Given the description of an element on the screen output the (x, y) to click on. 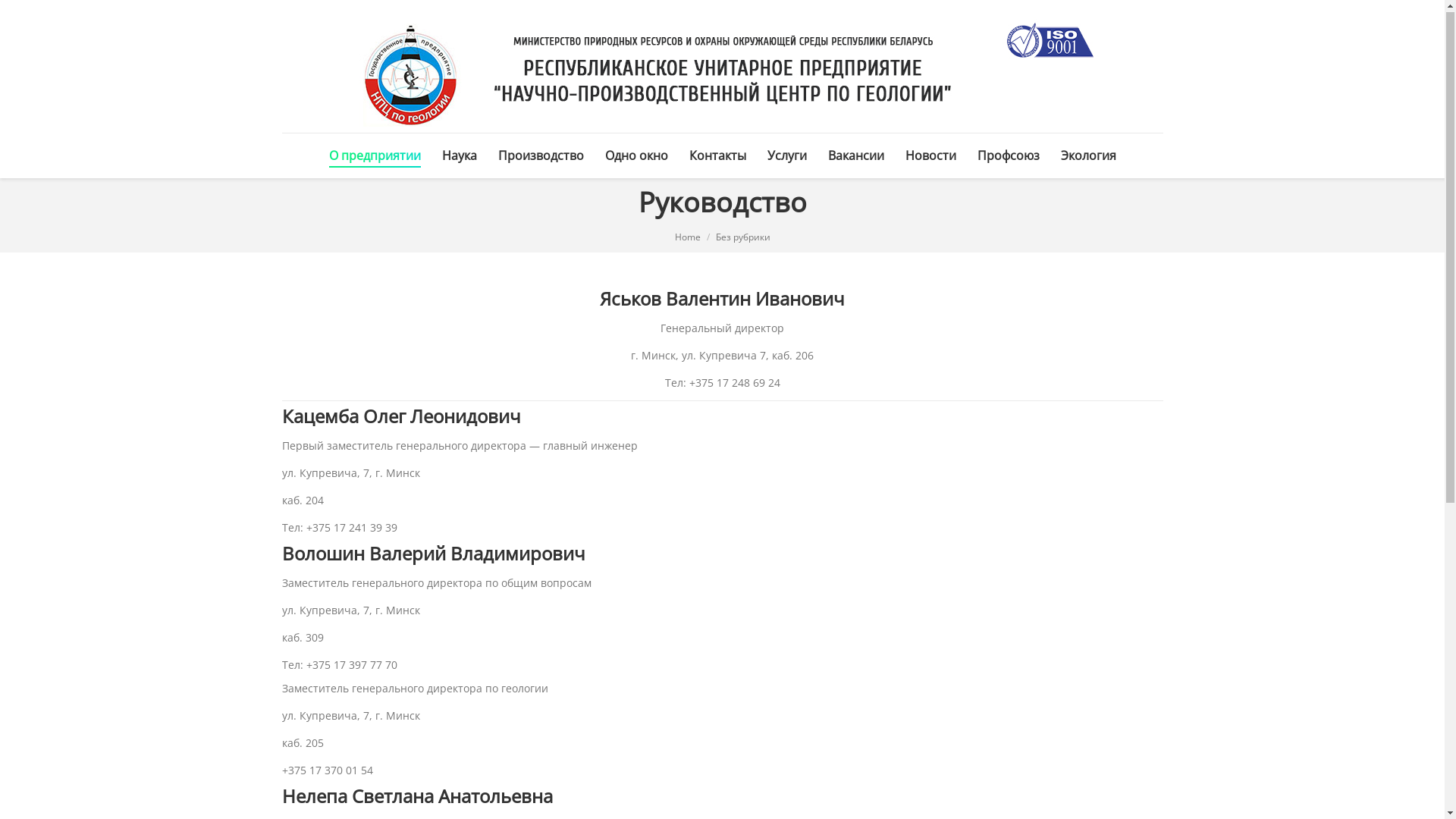
Home Element type: text (687, 238)
